Given the description of an element on the screen output the (x, y) to click on. 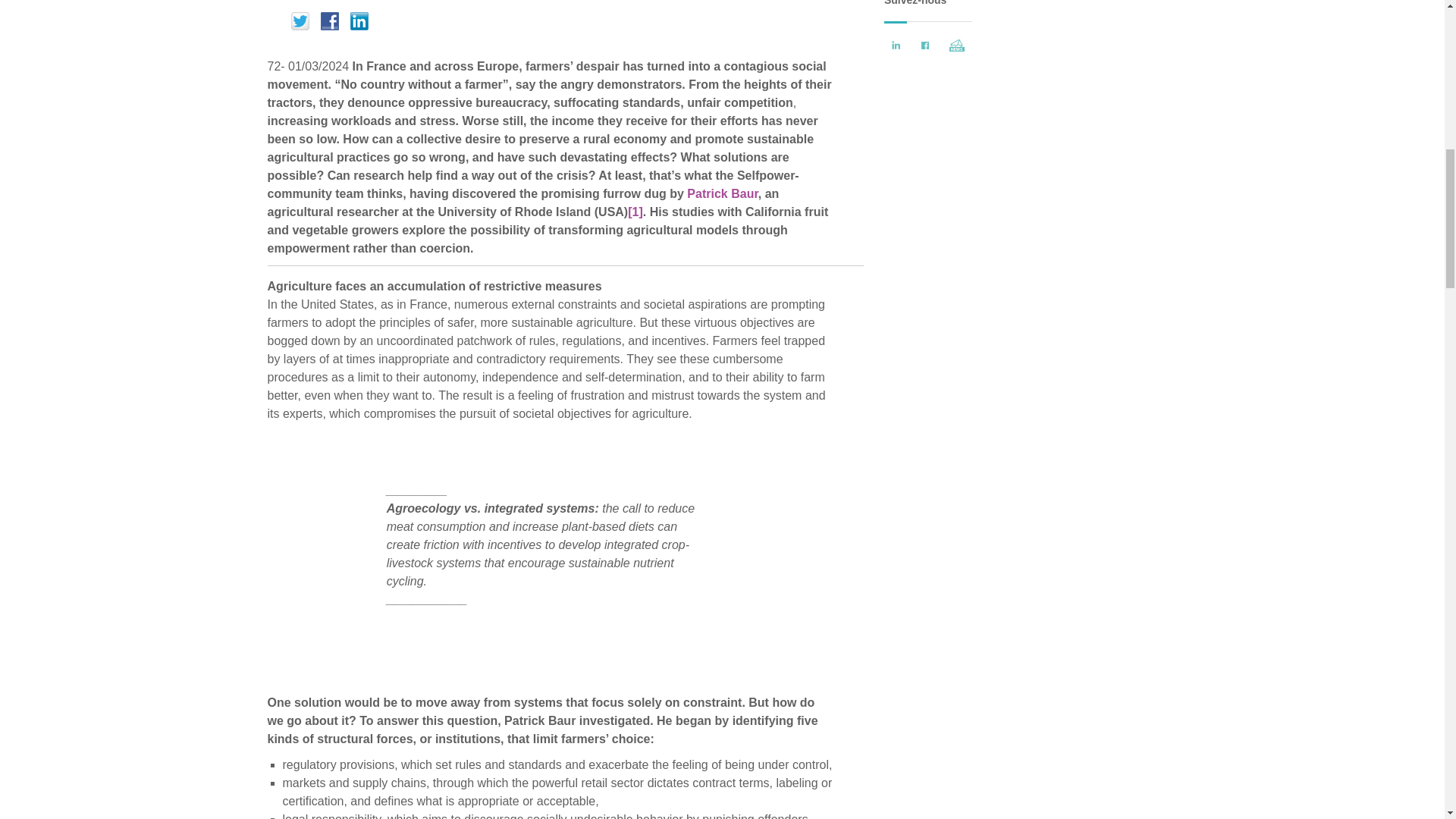
Twitter (298, 22)
Linkedin (357, 22)
Facebook (327, 22)
